Given the description of an element on the screen output the (x, y) to click on. 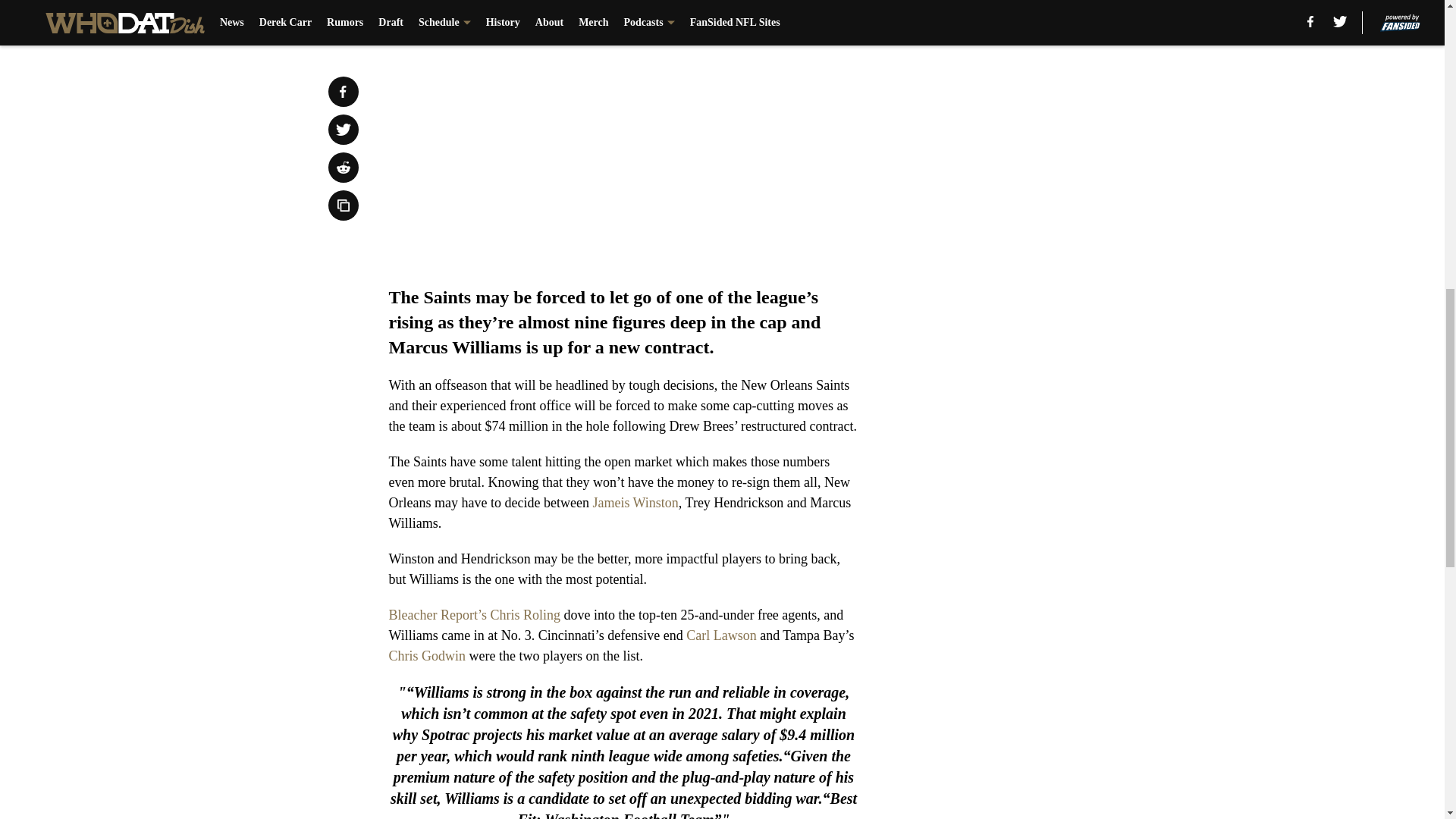
Chris Godwin (426, 655)
Carl Lawson (720, 635)
Jameis Winston (635, 502)
